Given the description of an element on the screen output the (x, y) to click on. 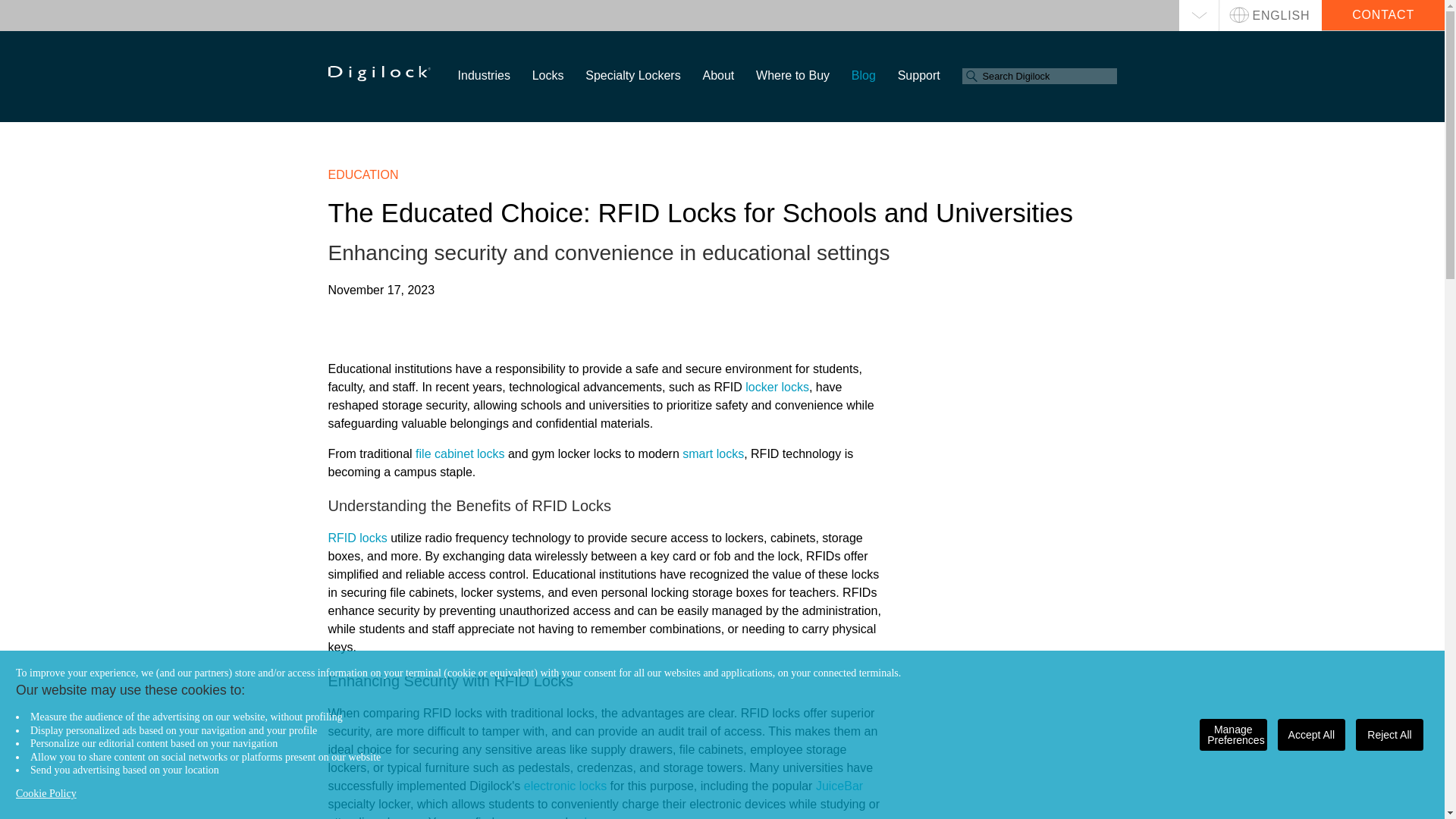
Reject All (1389, 735)
Where to Buy (792, 74)
Support (919, 74)
file cabinet locks (458, 453)
here (595, 817)
Cookie Policy (46, 793)
locker locks (777, 386)
Specialty Lockers (632, 74)
JuiceBar (839, 785)
Blog (863, 74)
smart locks (713, 453)
Locks (548, 74)
Accept All (1311, 735)
RFID locks (357, 537)
Manage Preferences (1232, 735)
